Given the description of an element on the screen output the (x, y) to click on. 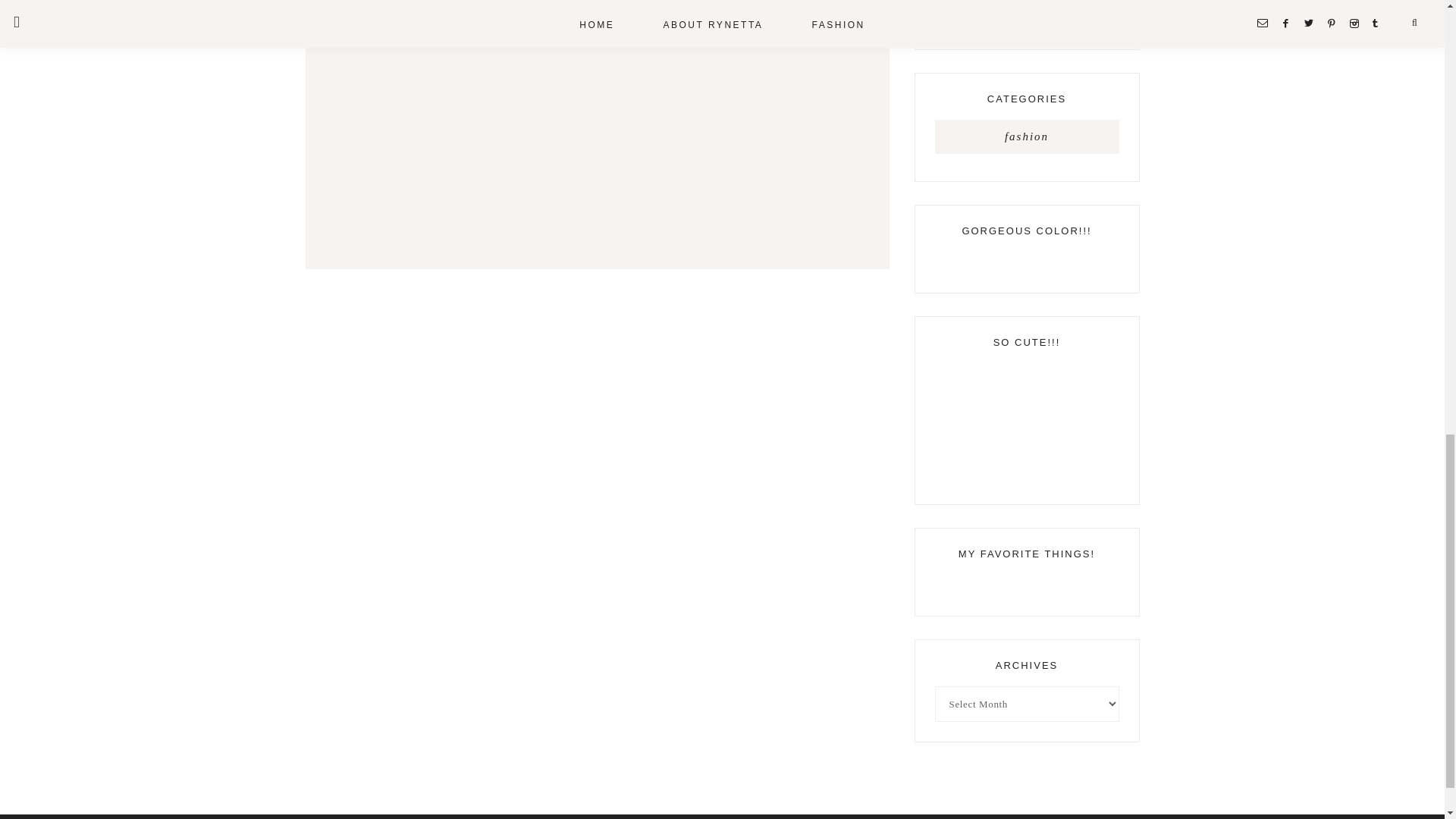
Comment Form (596, 115)
fashion (1026, 136)
